Given the description of an element on the screen output the (x, y) to click on. 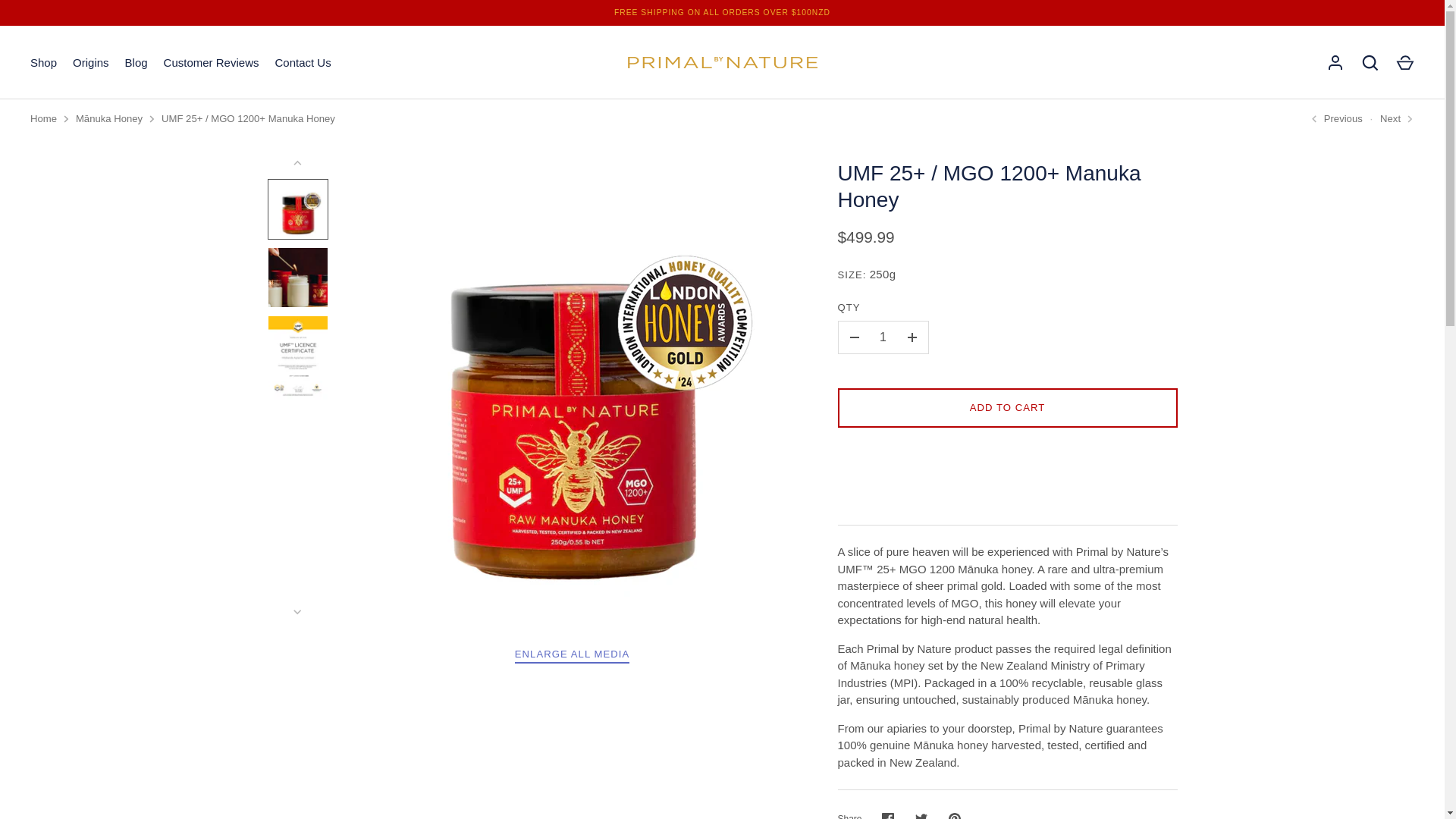
1 (883, 336)
Customer Reviews (210, 63)
Origins (91, 63)
Shop (44, 63)
Contact Us (302, 63)
Blog (135, 63)
